Given the description of an element on the screen output the (x, y) to click on. 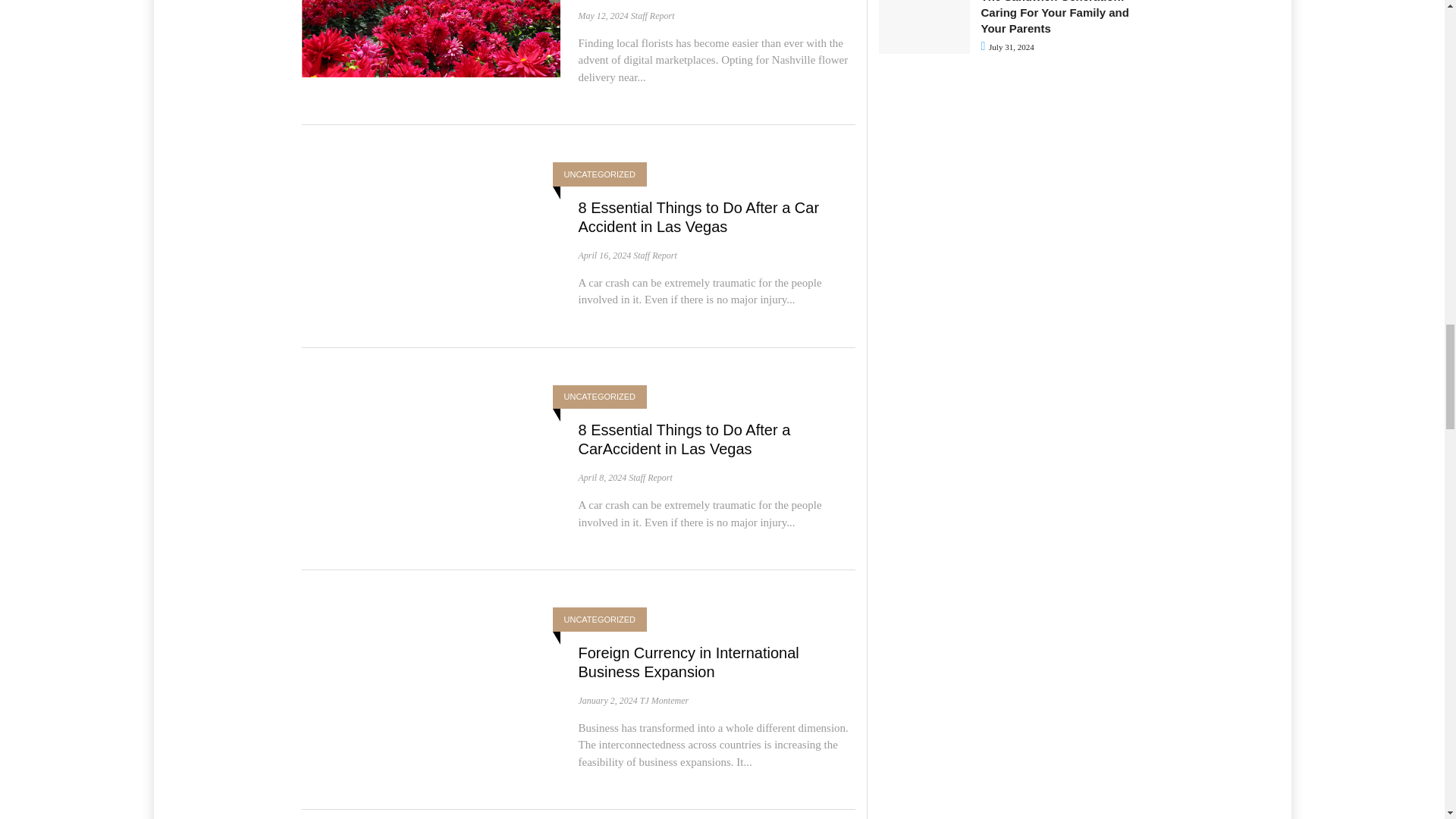
8 Essential Things to Do After a CarAccident in Las Vegas (684, 439)
Foreign Currency in International Business Expansion (687, 662)
Staff Report (652, 15)
Posts by TJ Montemer (664, 700)
8 Essential Things to Do After a Car Accident in Las Vegas (698, 217)
Posts by Staff Report (655, 255)
Posts by Staff Report (652, 15)
Posts by Staff Report (650, 477)
